Given the description of an element on the screen output the (x, y) to click on. 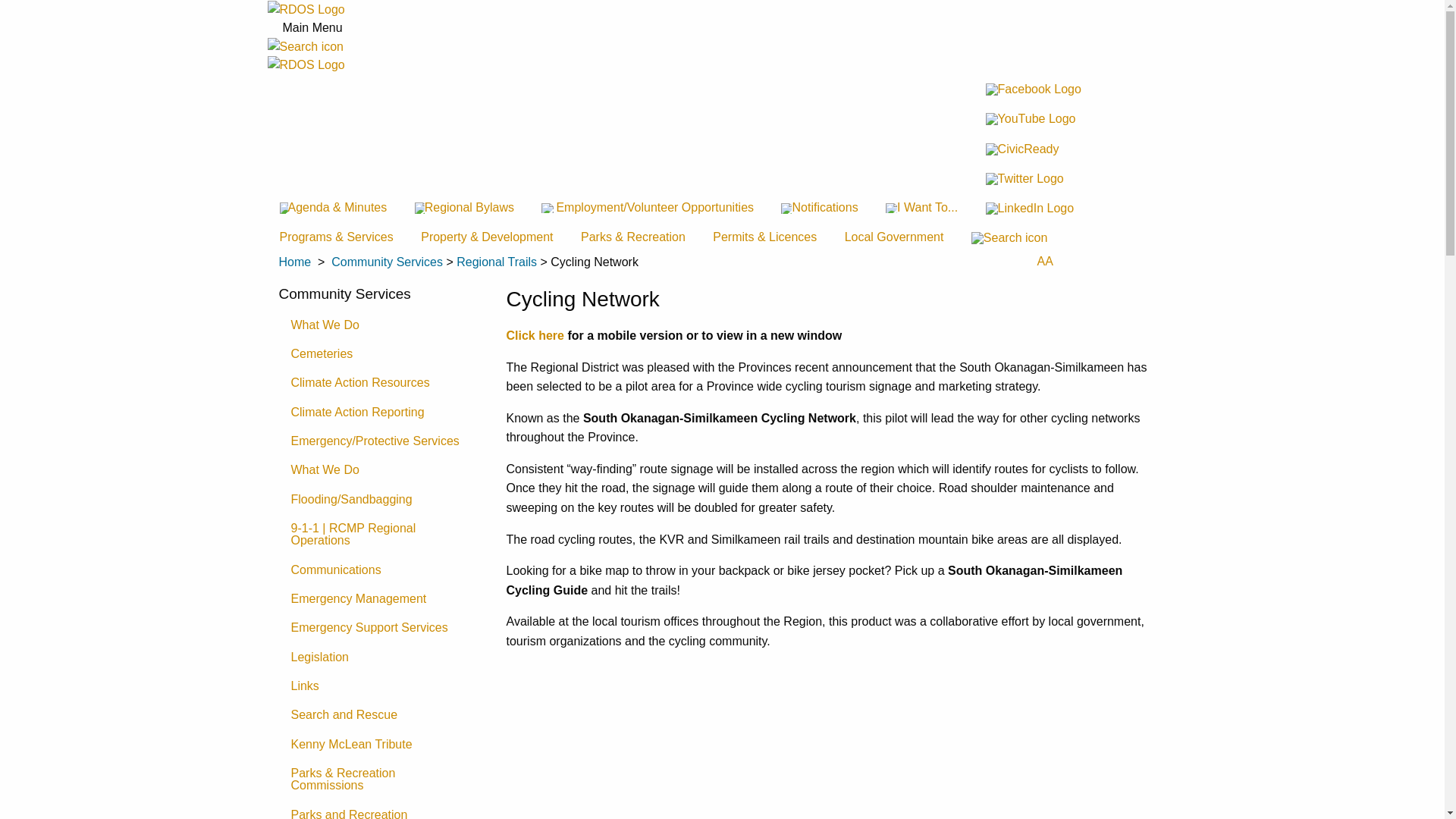
Programs & Services Element type: text (335, 236)
Legislation Element type: text (381, 656)
A Element type: text (1048, 260)
Twitter Element type: hover (1033, 178)
Skip to Content Element type: text (0, 0)
Local Government Element type: text (894, 236)
RDOS - Regional District of Okanagan-Similkameen Element type: hover (305, 64)
Regional Trails Element type: text (496, 261)
What We Do Element type: text (381, 324)
Emergency Support Services Element type: text (381, 627)
A Element type: text (1040, 260)
Parks & Recreation Commissions Element type: text (381, 779)
Climate Action Reporting Element type: text (381, 411)
Property & Development Element type: text (486, 236)
Home Element type: text (295, 261)
Notifications Element type: text (818, 207)
Links Element type: text (381, 685)
Regional Bylaws Element type: text (464, 207)
Cemeteries Element type: text (381, 353)
YouTube Element type: hover (1033, 118)
Emergency/Protective Services Element type: text (381, 440)
CivicReady Element type: hover (1033, 148)
Agenda & Minutes Element type: text (332, 207)
Emergency Management Element type: text (381, 598)
LinkedIn Element type: hover (1033, 207)
What We Do Element type: text (381, 469)
Click here Element type: text (536, 335)
Community Services Element type: text (386, 261)
Parks & Recreation Element type: text (632, 236)
Employment/Volunteer Opportunities Element type: text (647, 207)
Climate Action Resources Element type: text (381, 382)
Facebook Element type: hover (1033, 88)
Permits & Licences Element type: text (764, 236)
9-1-1 | RCMP Regional Operations Element type: text (381, 534)
Kenny McLean Tribute Element type: text (381, 744)
I Want To... Element type: text (921, 207)
Communications Element type: text (381, 569)
Flooding/Sandbagging Element type: text (381, 499)
Search and Rescue Element type: text (381, 714)
